Given the description of an element on the screen output the (x, y) to click on. 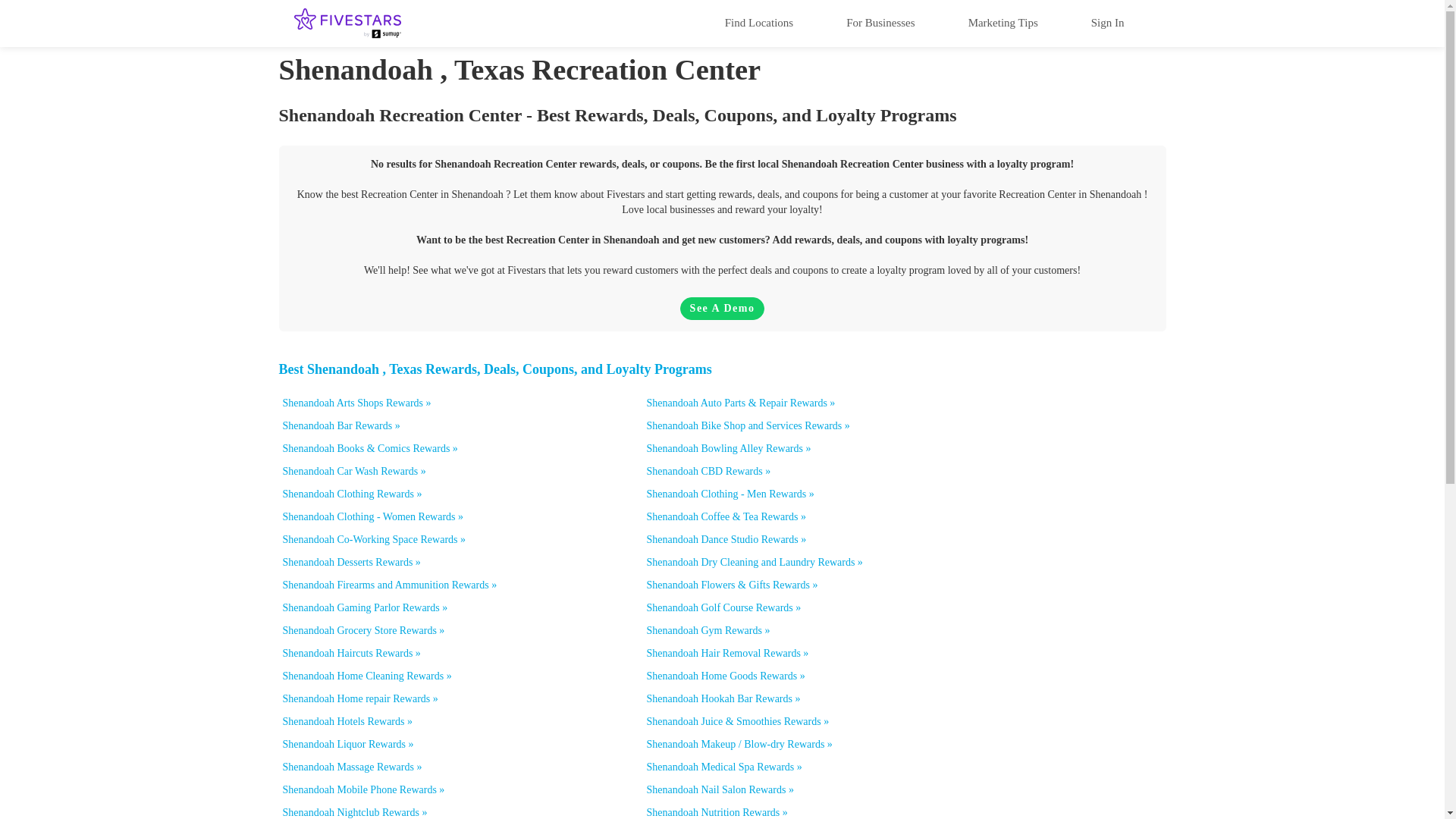
Marketing Tips (1002, 22)
Sign In (1107, 22)
Find Locations (759, 22)
See a Demo and Learn More About Fivestars (722, 308)
See A Demo (722, 308)
For Businesses (880, 22)
Marketing Tips and Blog (1002, 22)
